Given the description of an element on the screen output the (x, y) to click on. 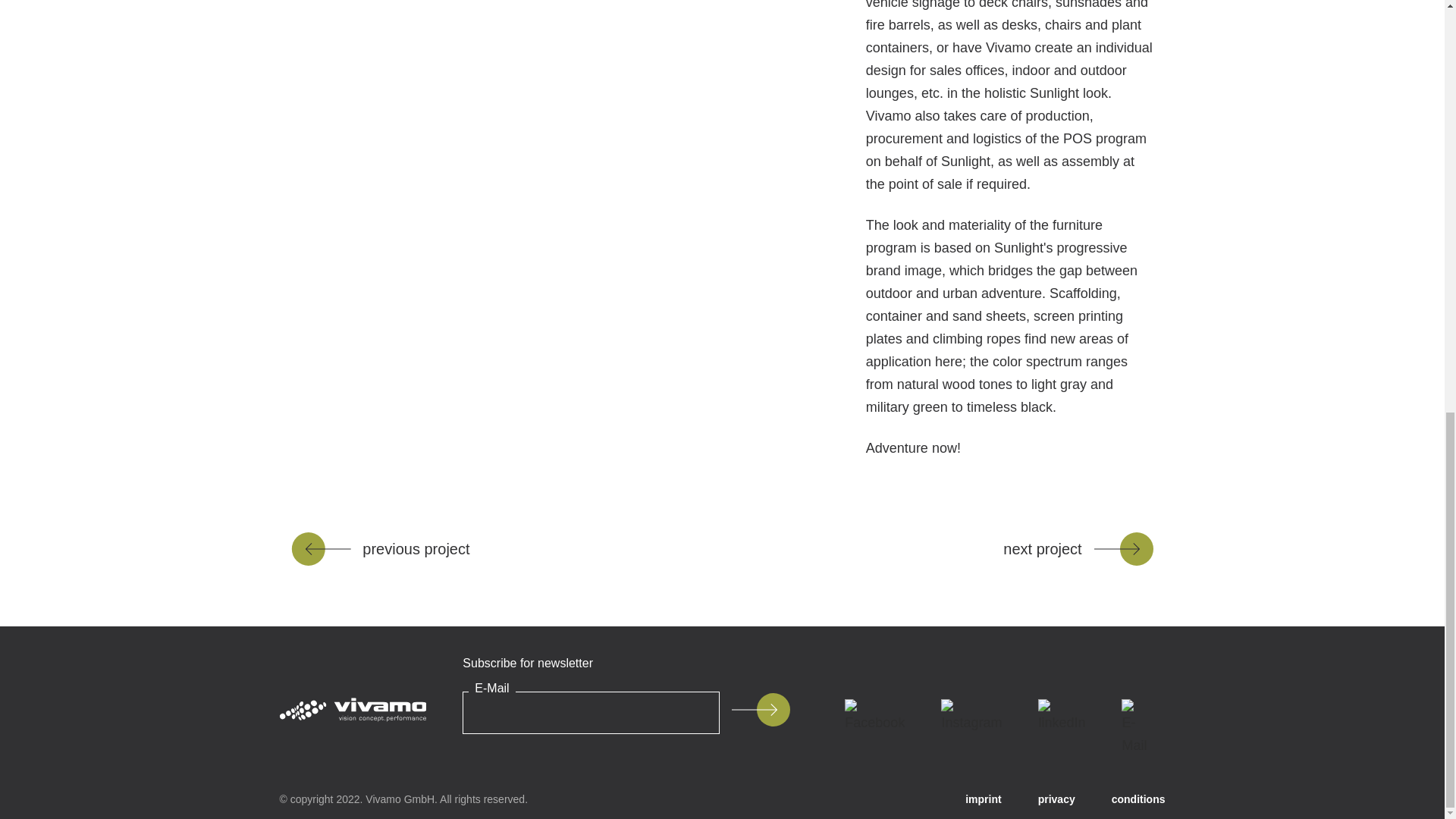
privacy (1056, 799)
submit form (760, 709)
linkedIn (1061, 716)
Facebook (875, 716)
Instagram (971, 716)
next project (1078, 548)
conditions (1139, 799)
imprint (983, 799)
previous project (379, 548)
